Given the description of an element on the screen output the (x, y) to click on. 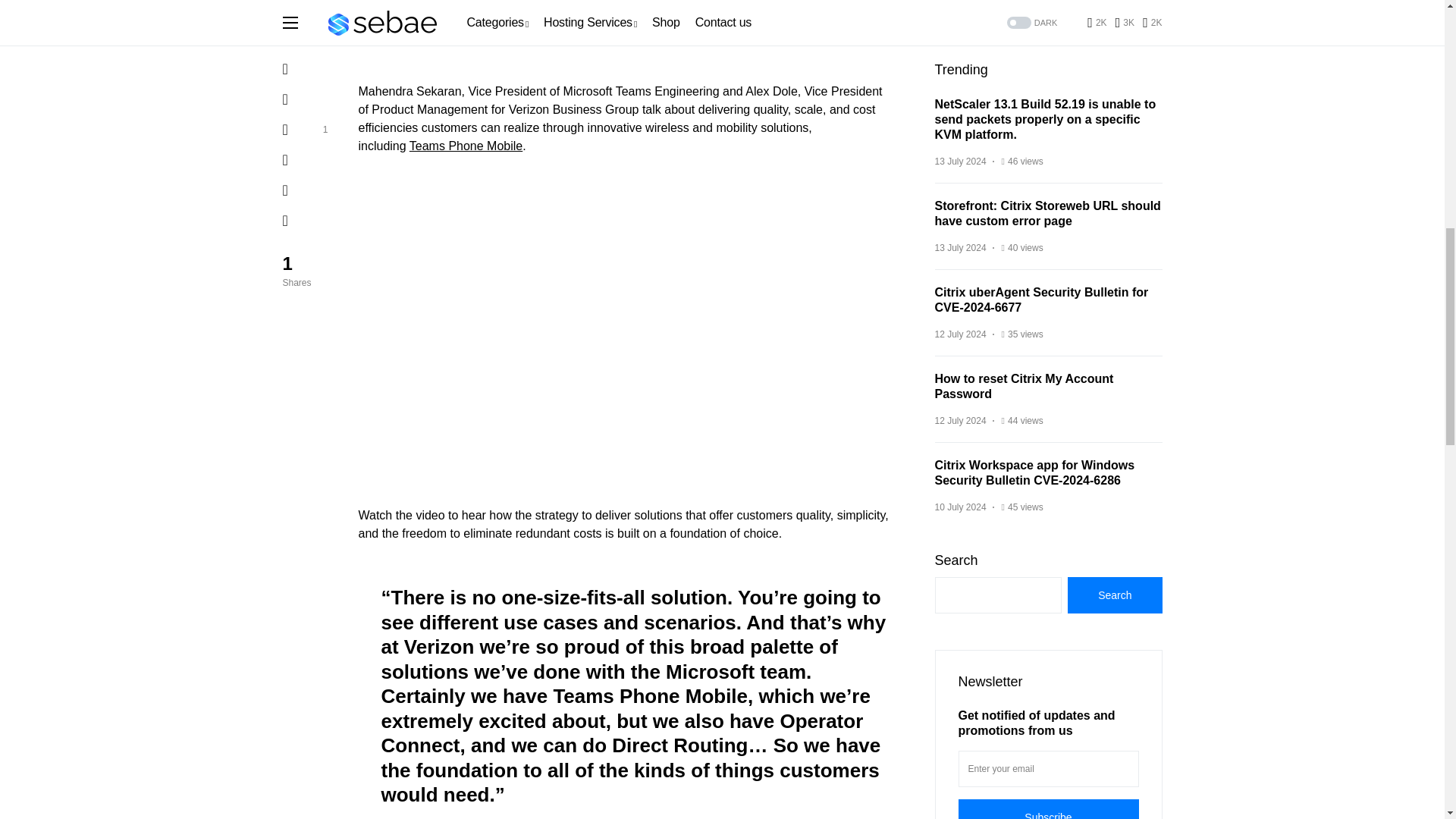
on (963, 92)
